Given the description of an element on the screen output the (x, y) to click on. 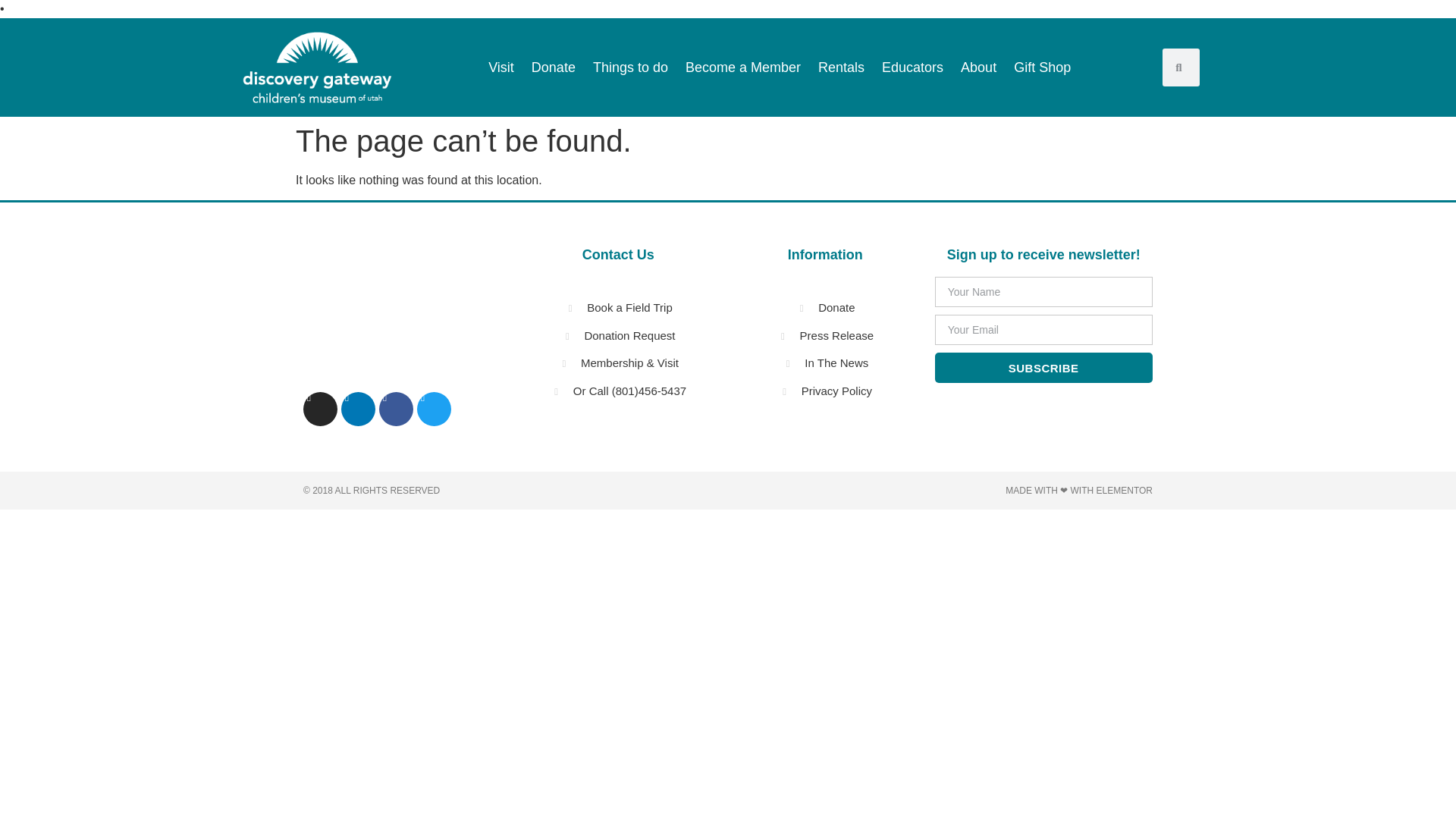
Donate (553, 67)
Things to do (630, 67)
444 W 100 S, Salt Lake City, UT 84101 (382, 308)
Become a Member (742, 67)
Gift Shop (1041, 67)
Rentals (841, 67)
Educators (912, 67)
